Given the description of an element on the screen output the (x, y) to click on. 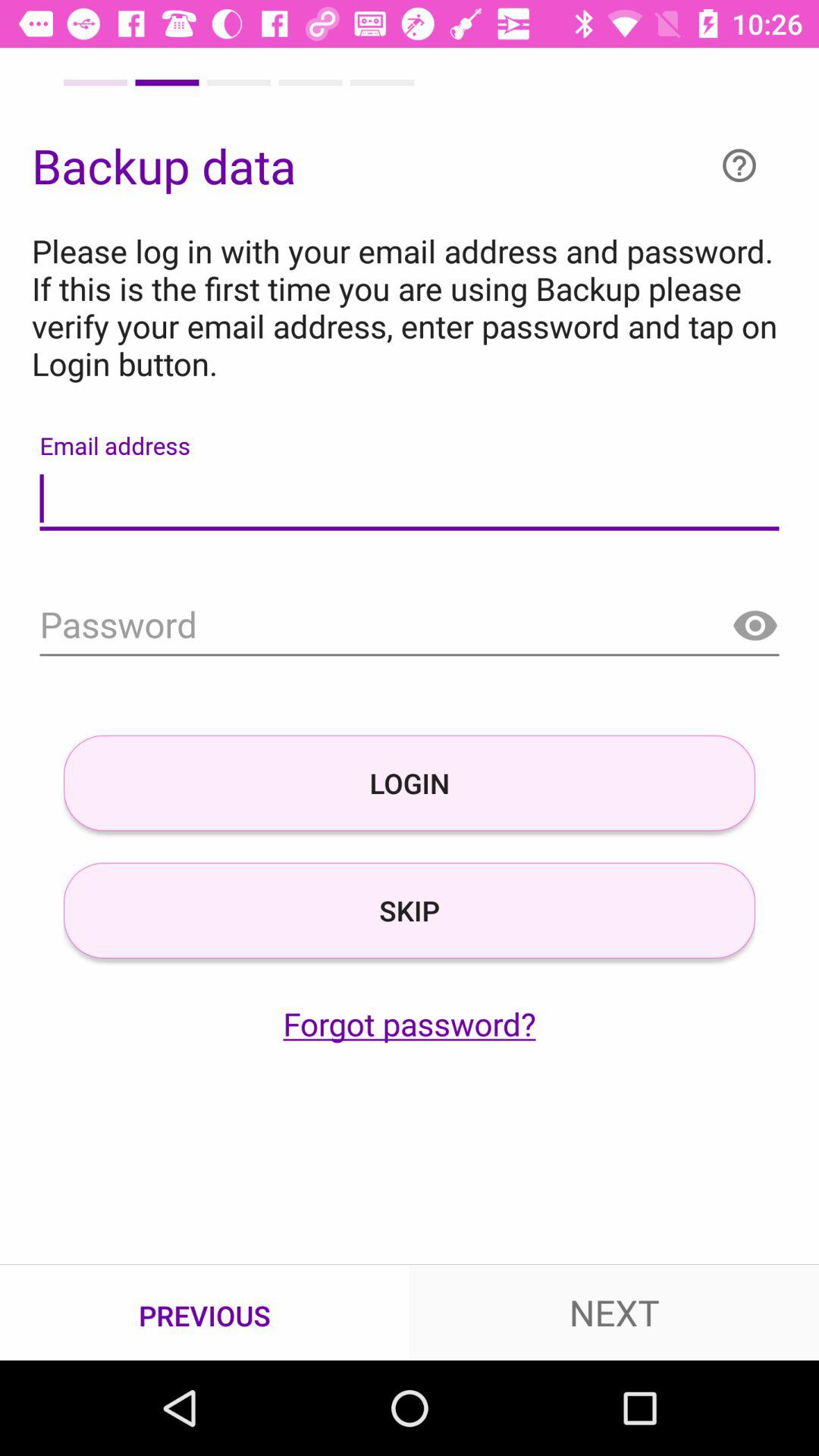
go to radio (755, 626)
